Given the description of an element on the screen output the (x, y) to click on. 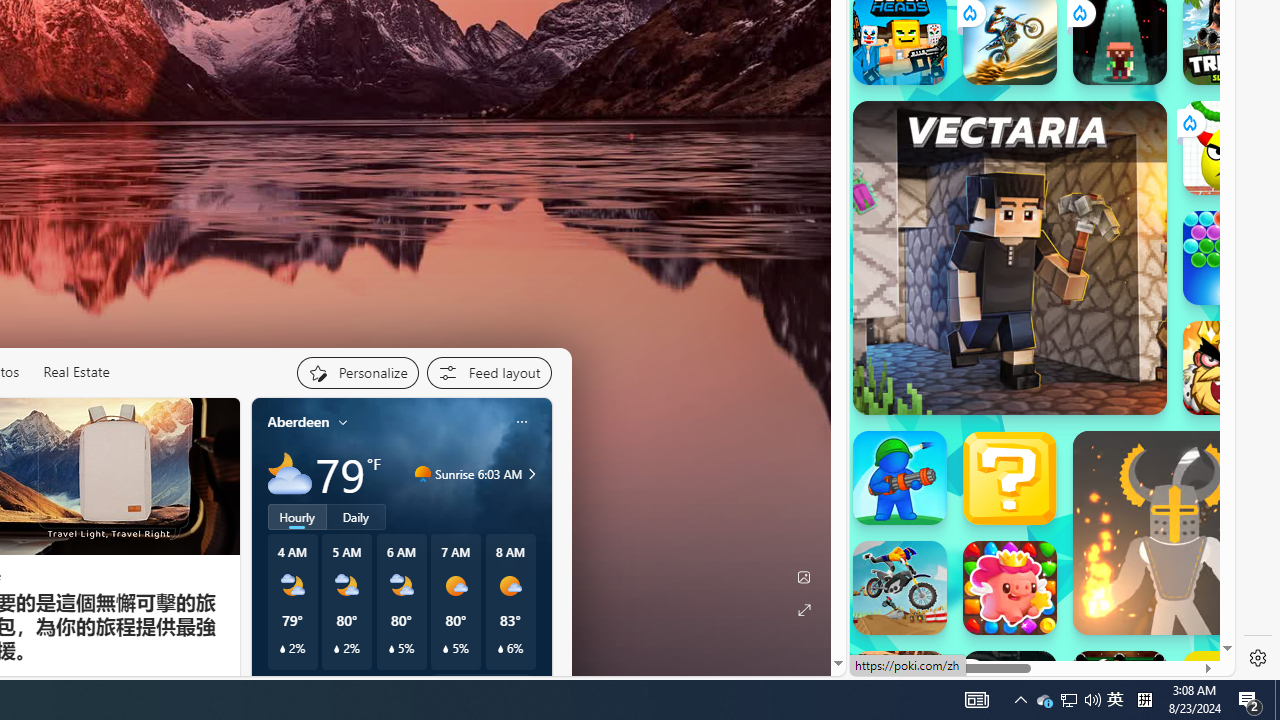
Mystery Tile (1009, 477)
Combat Reloaded Combat Reloaded poki.com (1092, 278)
Edit Background (803, 577)
Games for Girls (1042, 29)
Search results from poki.com (1005, 93)
Ragdoll Hit Ragdoll Hit (1174, 533)
Sunrise 6:03 AM (529, 474)
Like a King (1229, 367)
